Given the description of an element on the screen output the (x, y) to click on. 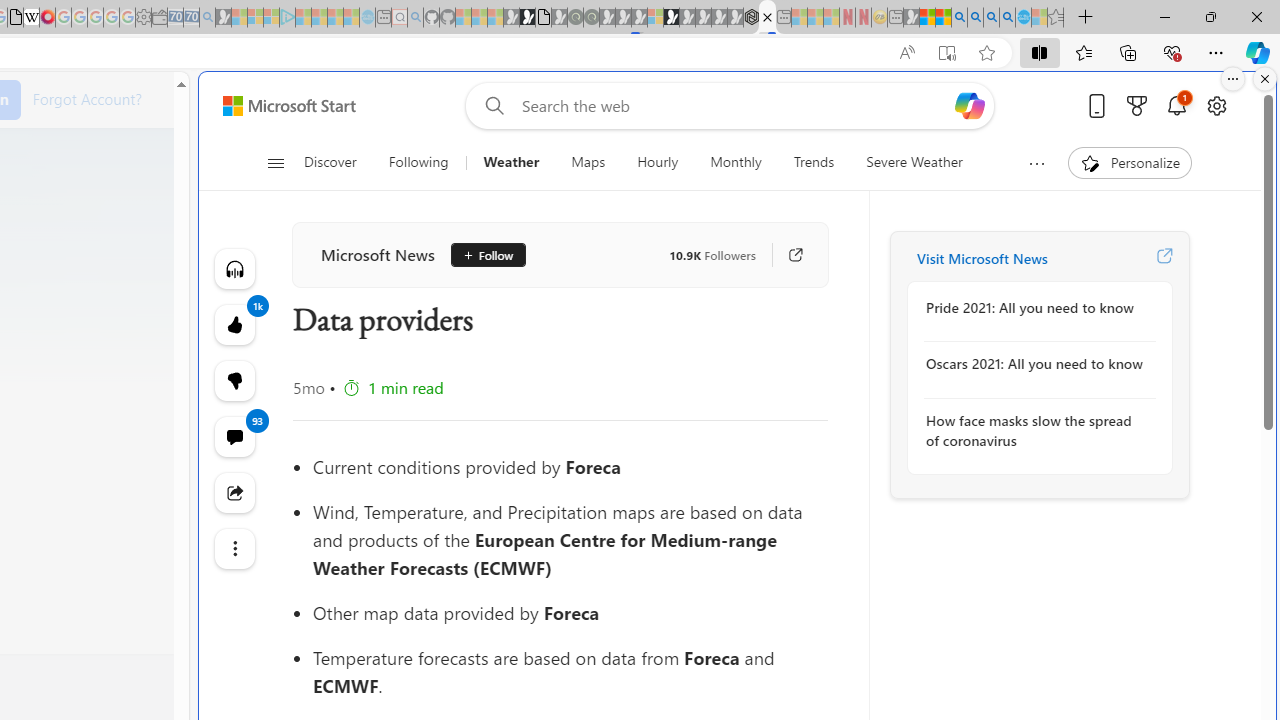
New Tab (1085, 17)
Hourly (657, 162)
Oscars 2021: All you need to know (1034, 364)
Trends (813, 162)
Cheap Car Rentals - Save70.com - Sleeping (191, 17)
Settings - Sleeping (143, 17)
Microsoft Start Gaming - Sleeping (223, 17)
Open Copilot (969, 105)
2009 Bing officially replaced Live Search on June 3 - Search (975, 17)
Services - Maintenance | Sky Blue Bikes - Sky Blue Bikes (1023, 17)
